Given the description of an element on the screen output the (x, y) to click on. 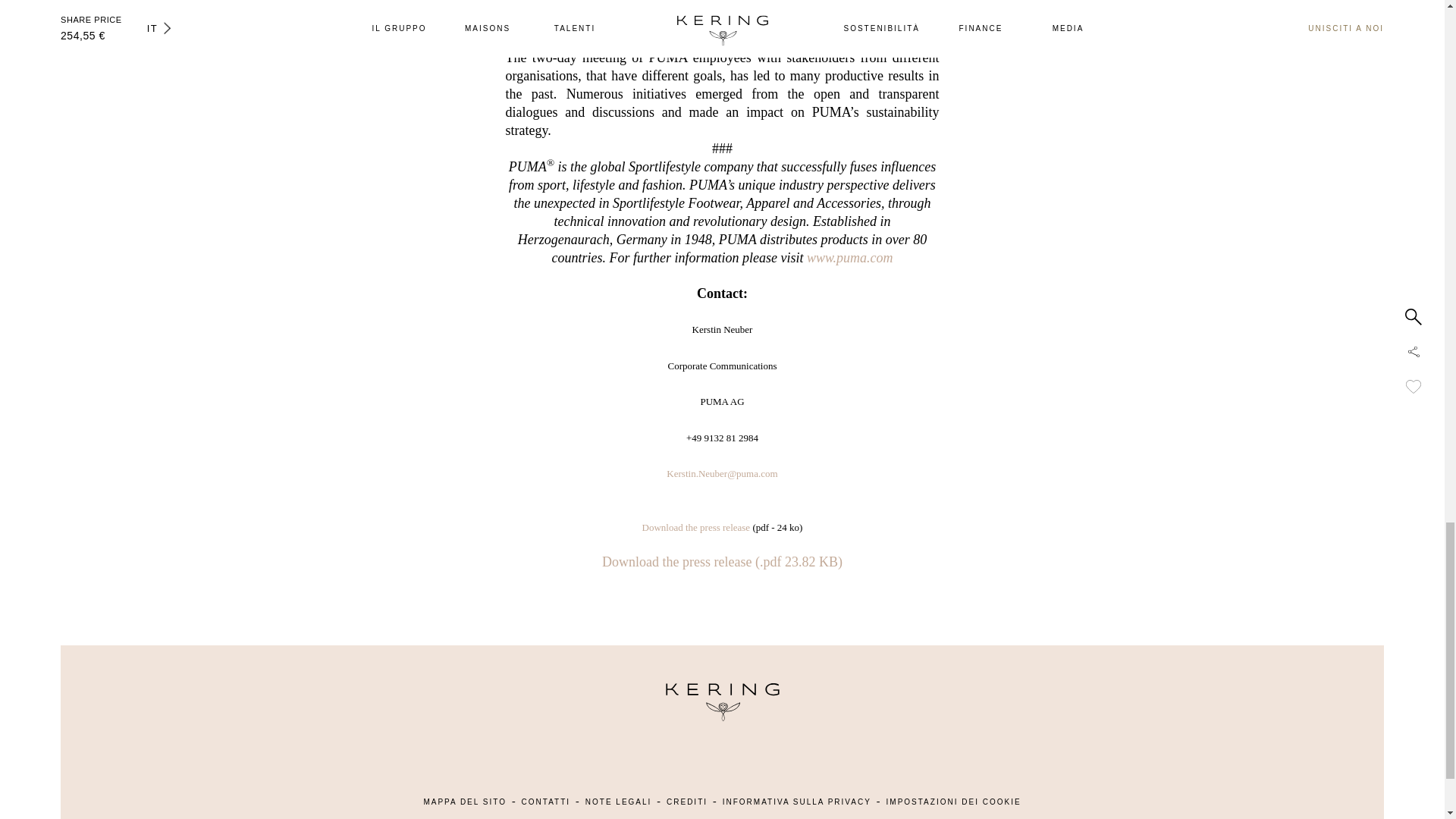
Download the .PDF report (722, 561)
Download the press release (696, 527)
MAPPA DEL SITO (464, 801)
www.puma.com (849, 257)
Kering (720, 717)
